Given the description of an element on the screen output the (x, y) to click on. 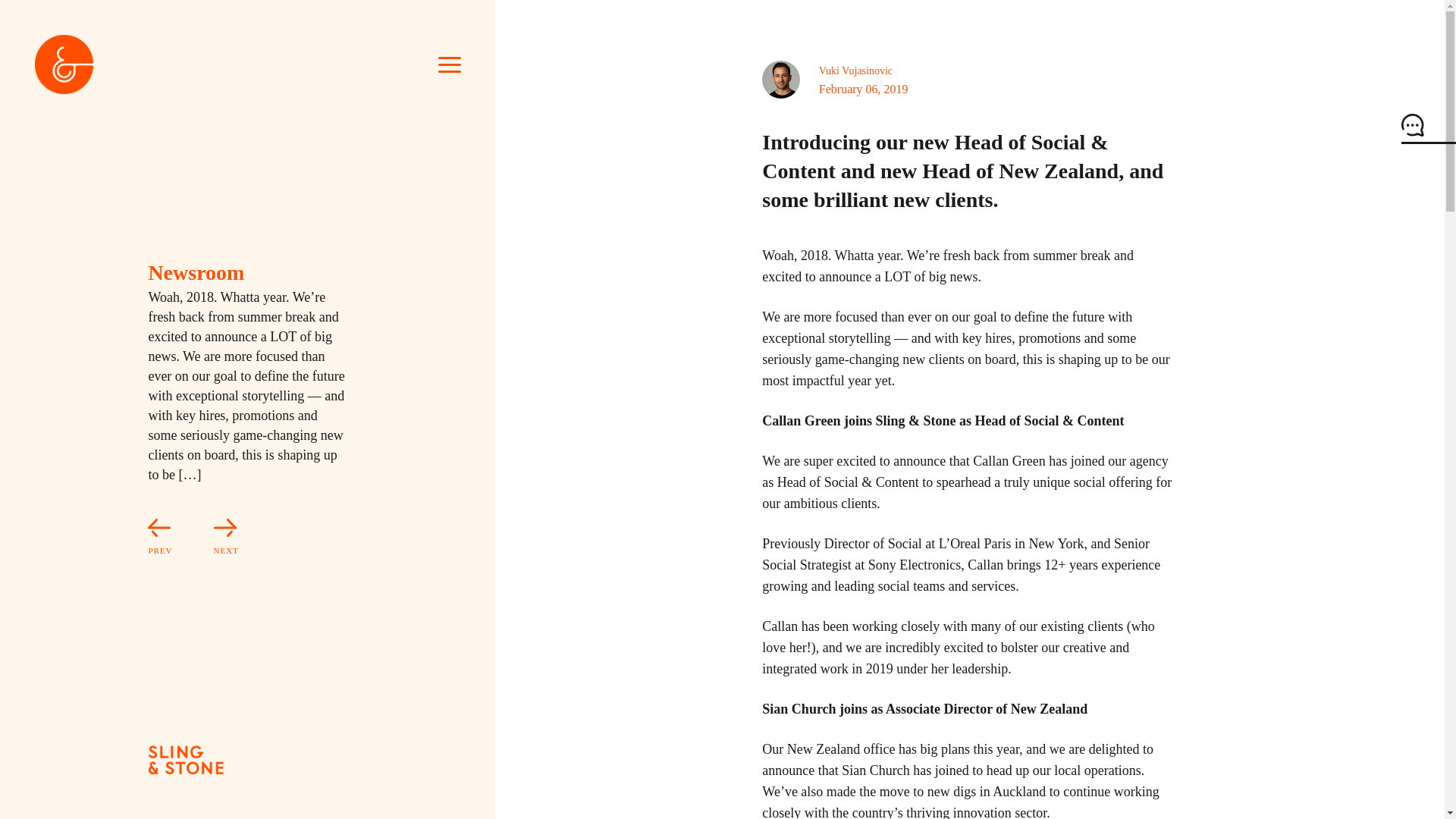
NEXT (207, 539)
